Given the description of an element on the screen output the (x, y) to click on. 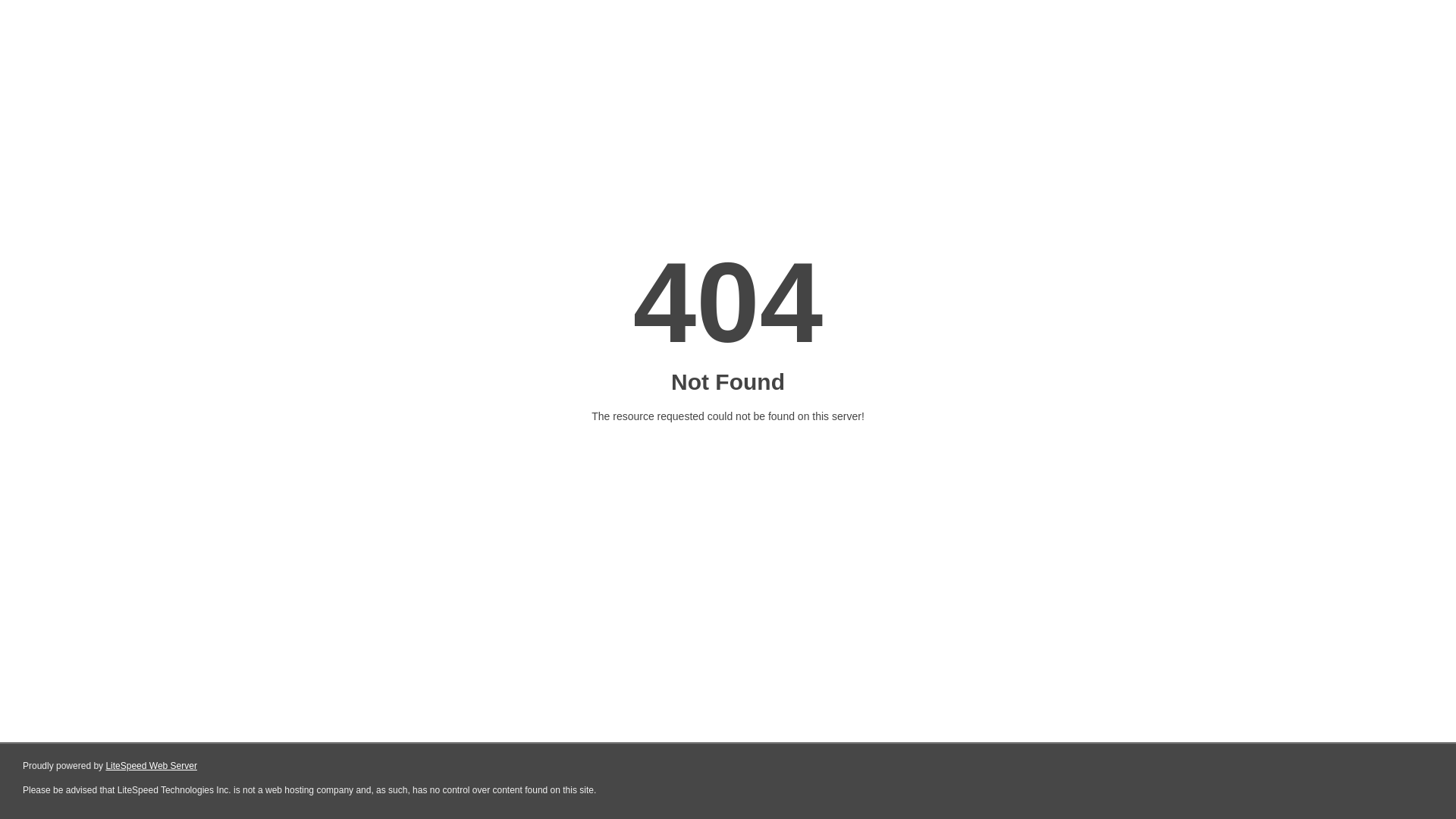
LiteSpeed Web Server Element type: text (151, 765)
